Given the description of an element on the screen output the (x, y) to click on. 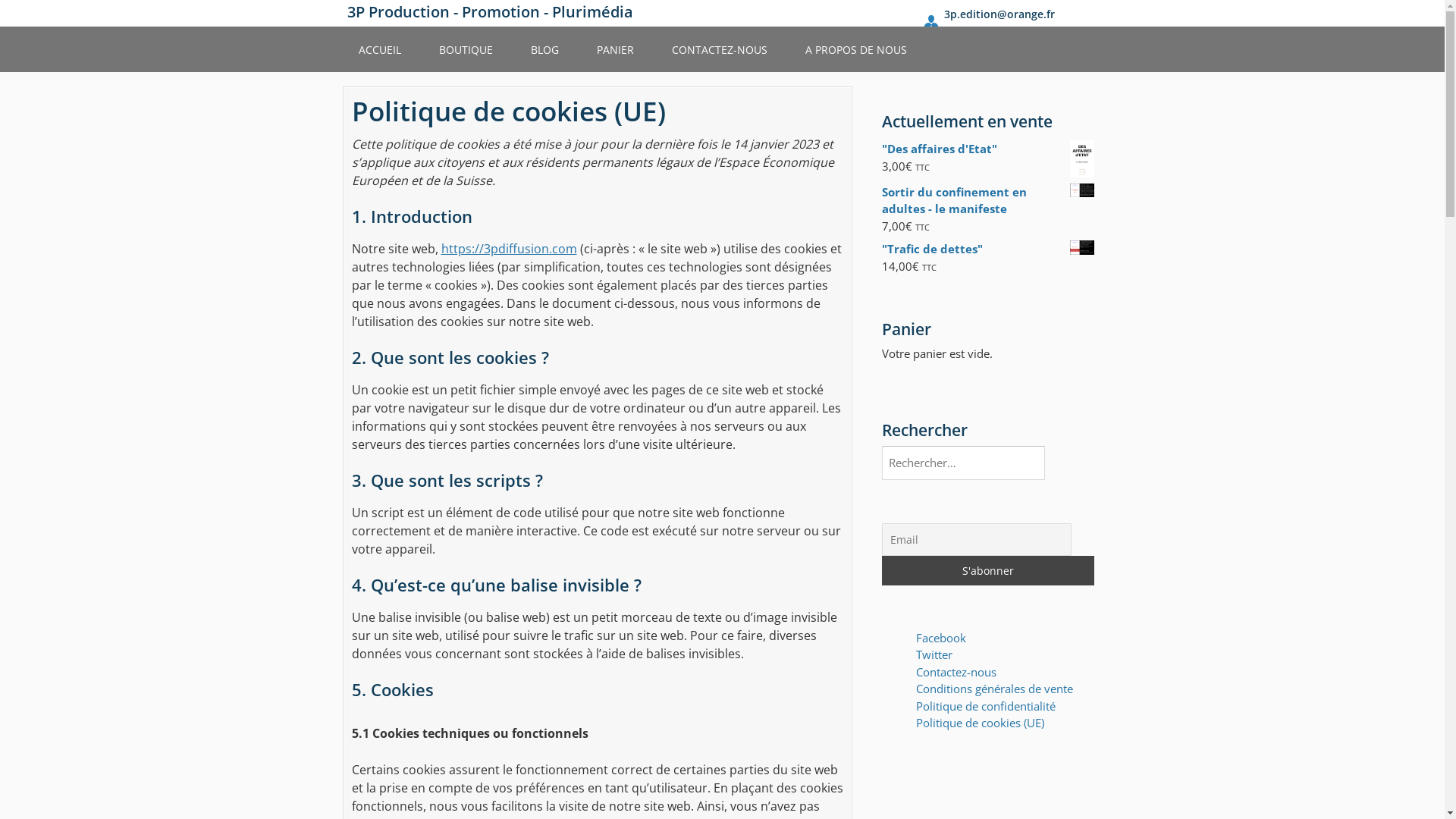
CONTACTEZ-NOUS Element type: text (719, 49)
A PROPOS DE NOUS Element type: text (856, 49)
"Des affaires d'Etat" Element type: text (987, 148)
Rechercher Element type: text (1050, 452)
https://3pdiffusion.com Element type: text (509, 248)
ACCUEIL Element type: text (378, 49)
PANIER Element type: text (614, 49)
BLOG Element type: text (544, 49)
Politique de cookies (UE) Element type: text (980, 722)
BOUTIQUE Element type: text (465, 49)
S'abonner Element type: text (987, 570)
Facebook Element type: text (941, 637)
Sortir du confinement en adultes - le manifeste Element type: text (987, 200)
Contactez-nous Element type: text (956, 671)
"Trafic de dettes" Element type: text (987, 248)
Twitter Element type: text (934, 654)
